Given the description of an element on the screen output the (x, y) to click on. 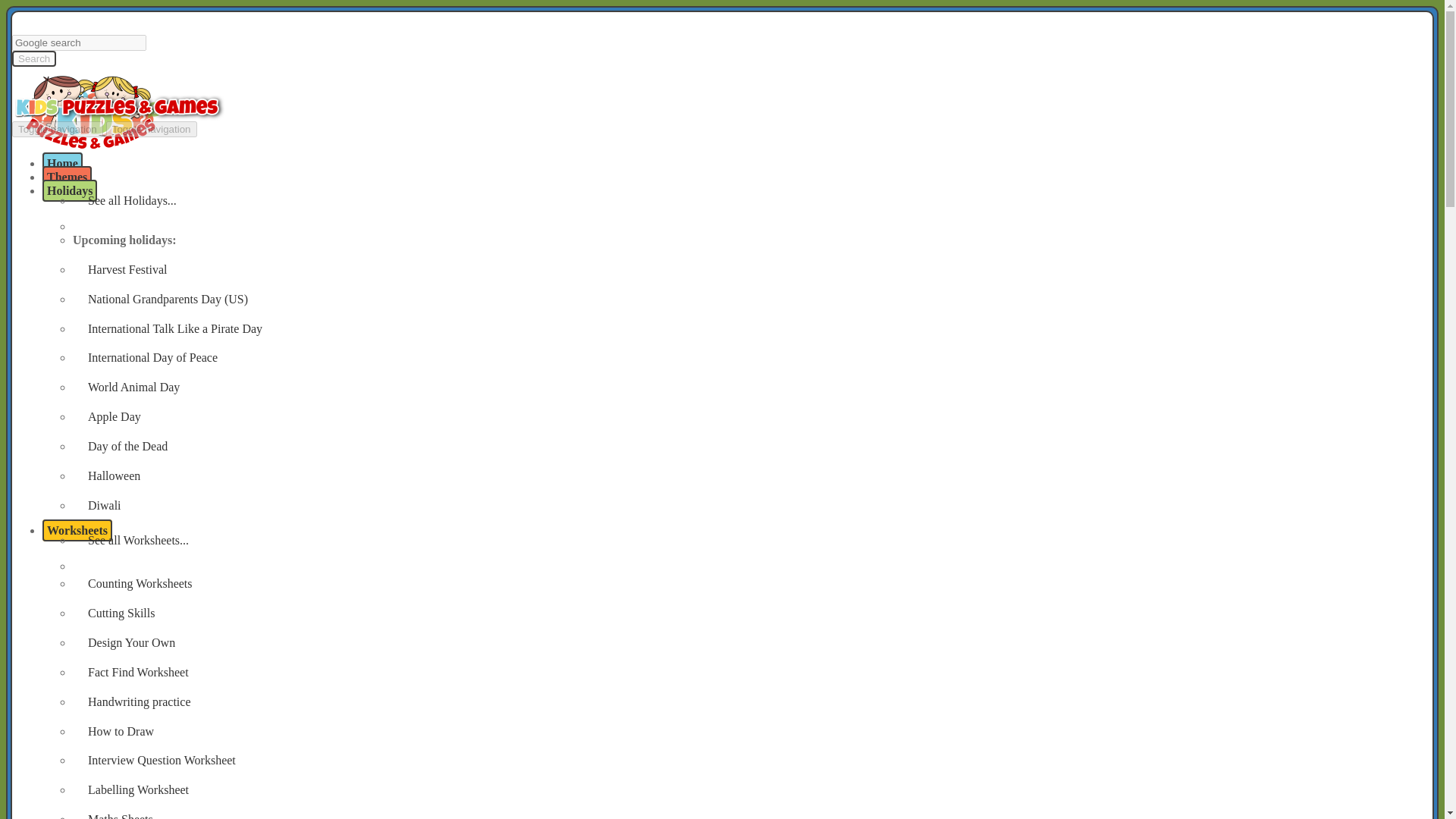
Handwriting practice (750, 702)
Kids Puzzles and Games (92, 107)
Halloween (750, 476)
Holidays (69, 190)
Cutting Skills (750, 613)
Toggle navigation (151, 129)
Kids Puzzles and Games (92, 141)
How to Draw (750, 731)
See all Worksheets... (750, 540)
Day of the Dead (750, 446)
